Given the description of an element on the screen output the (x, y) to click on. 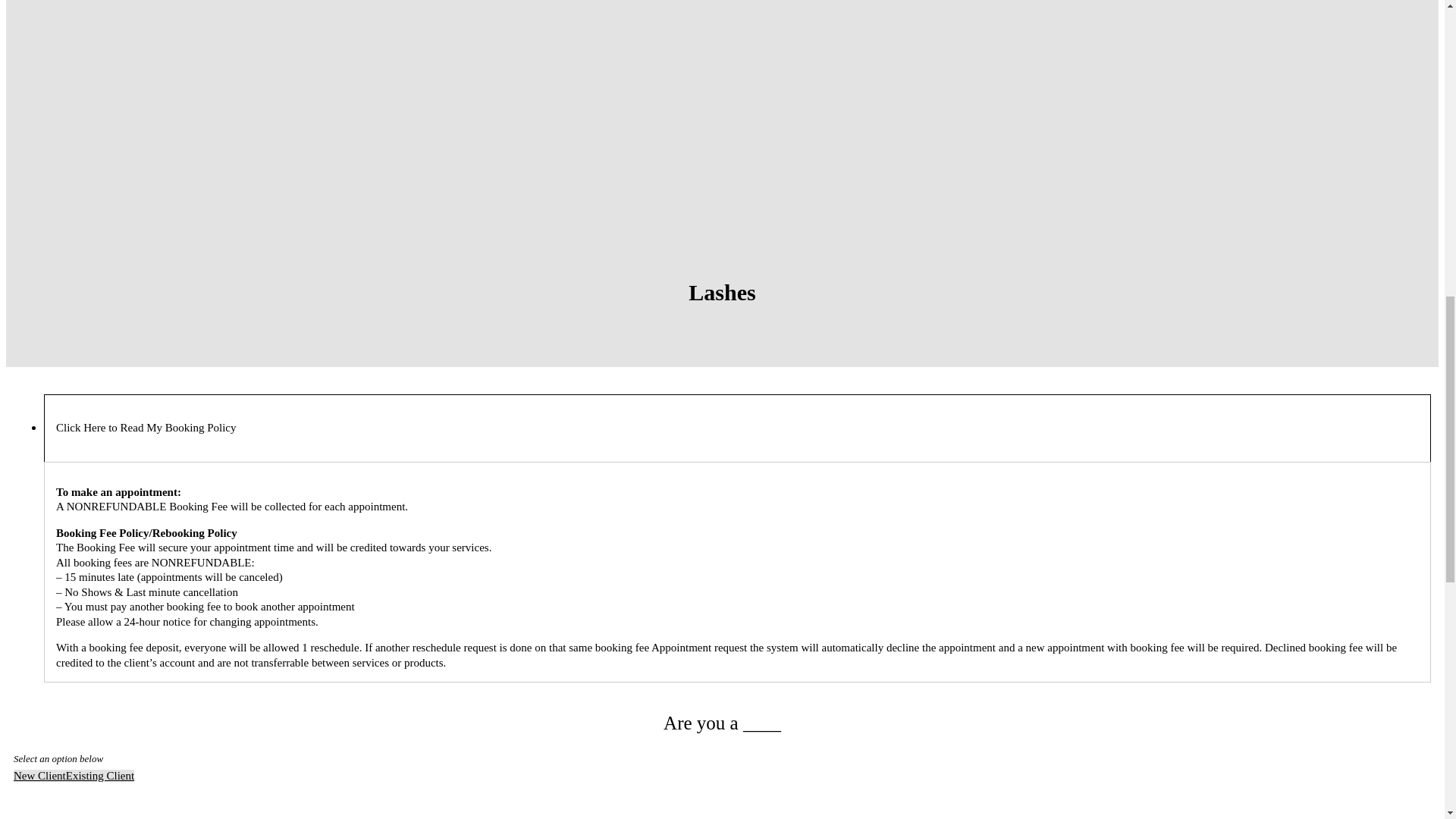
New Client (39, 775)
Existing Client (99, 775)
